Given the description of an element on the screen output the (x, y) to click on. 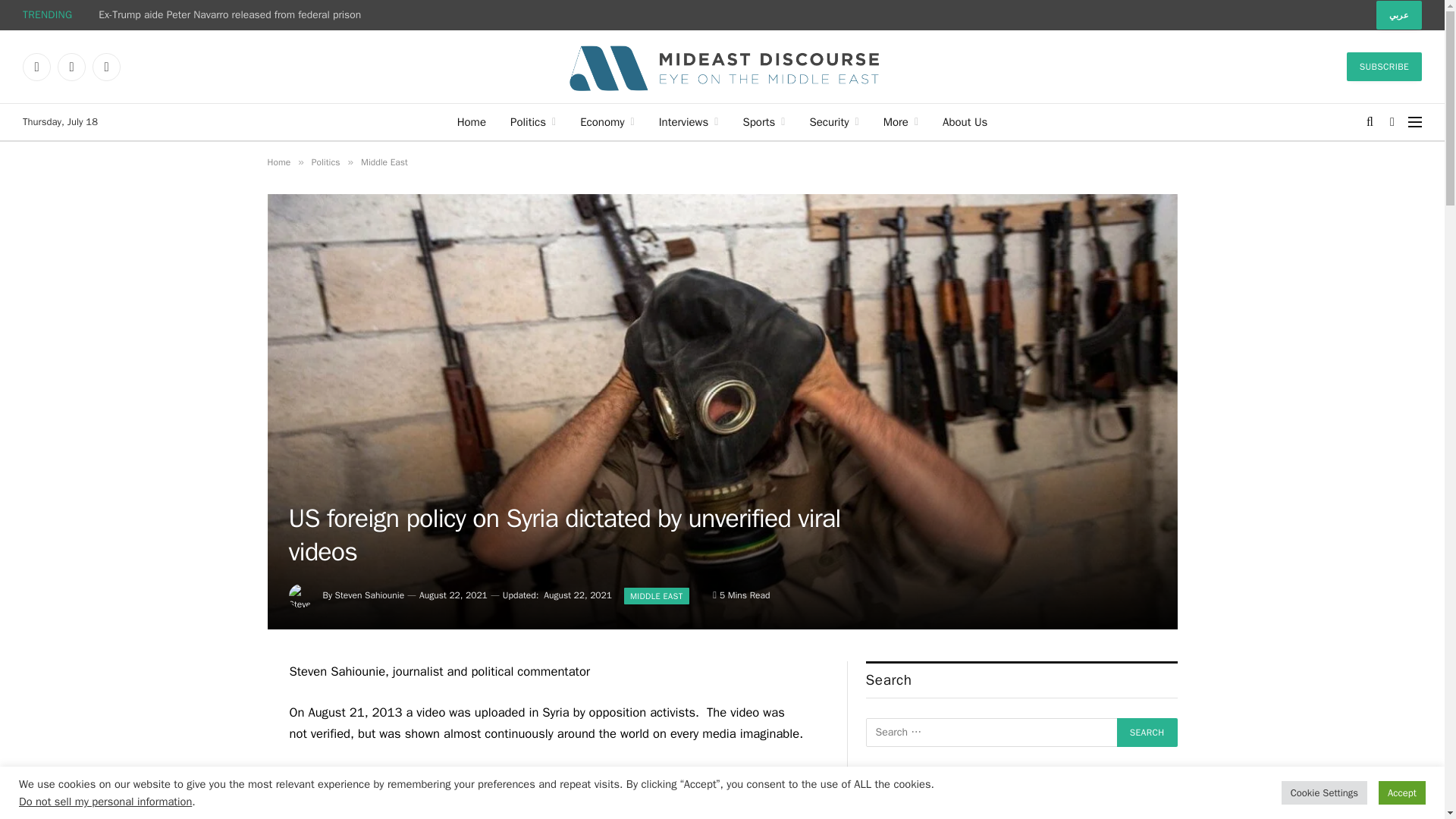
Search (1146, 732)
Economy (606, 122)
SUBSCRIBE (1384, 66)
Home (471, 122)
Facebook (36, 67)
Search (1146, 732)
Instagram (106, 67)
Politics (532, 122)
Mideast Discourse (722, 66)
Ex-Trump aide Peter Navarro released from federal prison (233, 15)
